Given the description of an element on the screen output the (x, y) to click on. 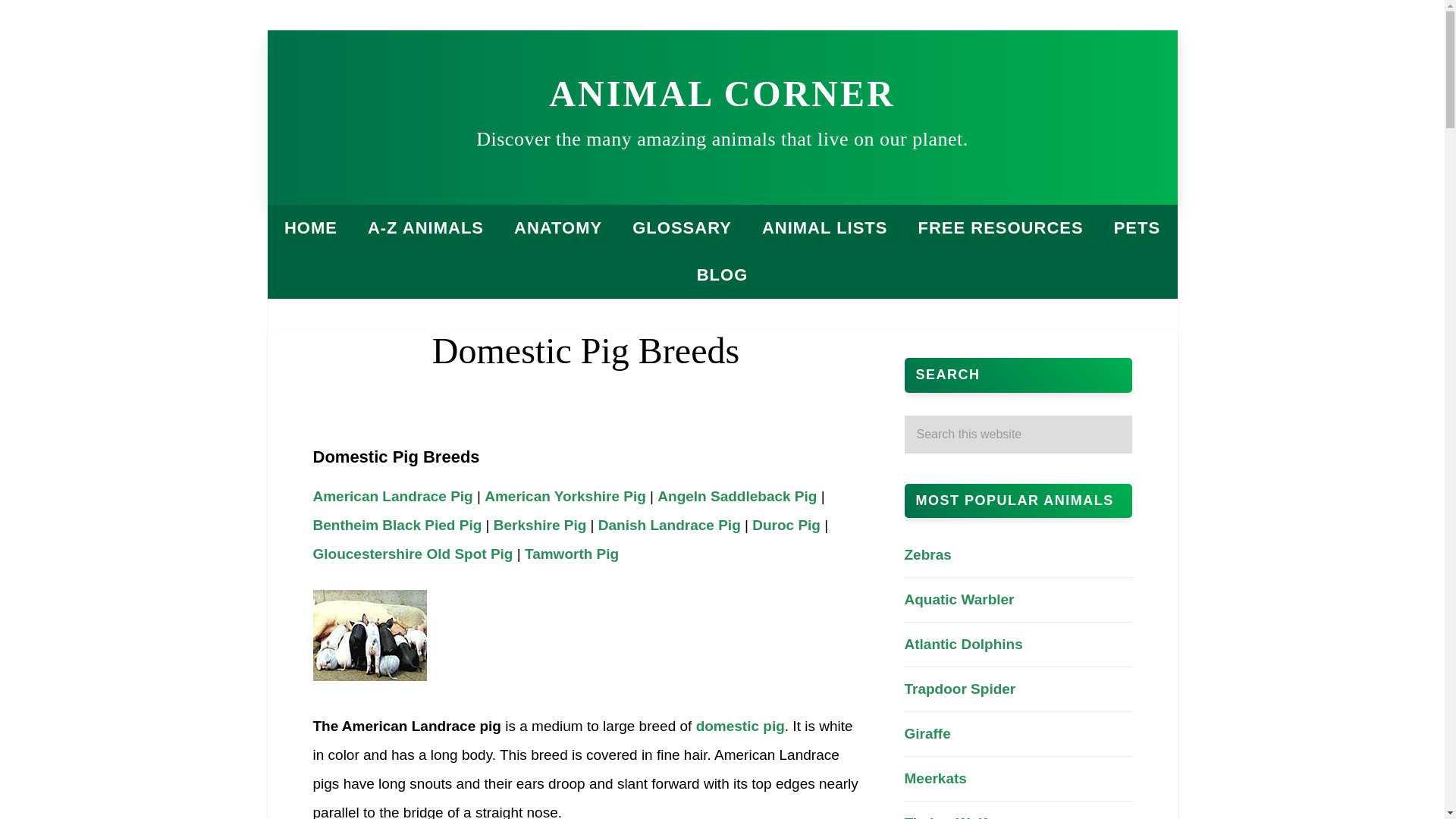
Bentheim Black Pied Pig (397, 524)
Gloucestershire Old Spot Pig (412, 553)
Angeln Saddleback Pig (737, 496)
Tamworth Pig (571, 553)
Atlantic Dolphins (963, 643)
Aquatic Warbler (958, 599)
Danish Landrace Pig (669, 524)
ANATOMY (558, 227)
ANIMAL LISTS (824, 227)
American Landrace Pig (392, 496)
Trapdoor Spider (959, 688)
domestic pig (739, 725)
GLOSSARY (681, 227)
American Yorkshire Pig (565, 496)
Giraffe (927, 733)
